Given the description of an element on the screen output the (x, y) to click on. 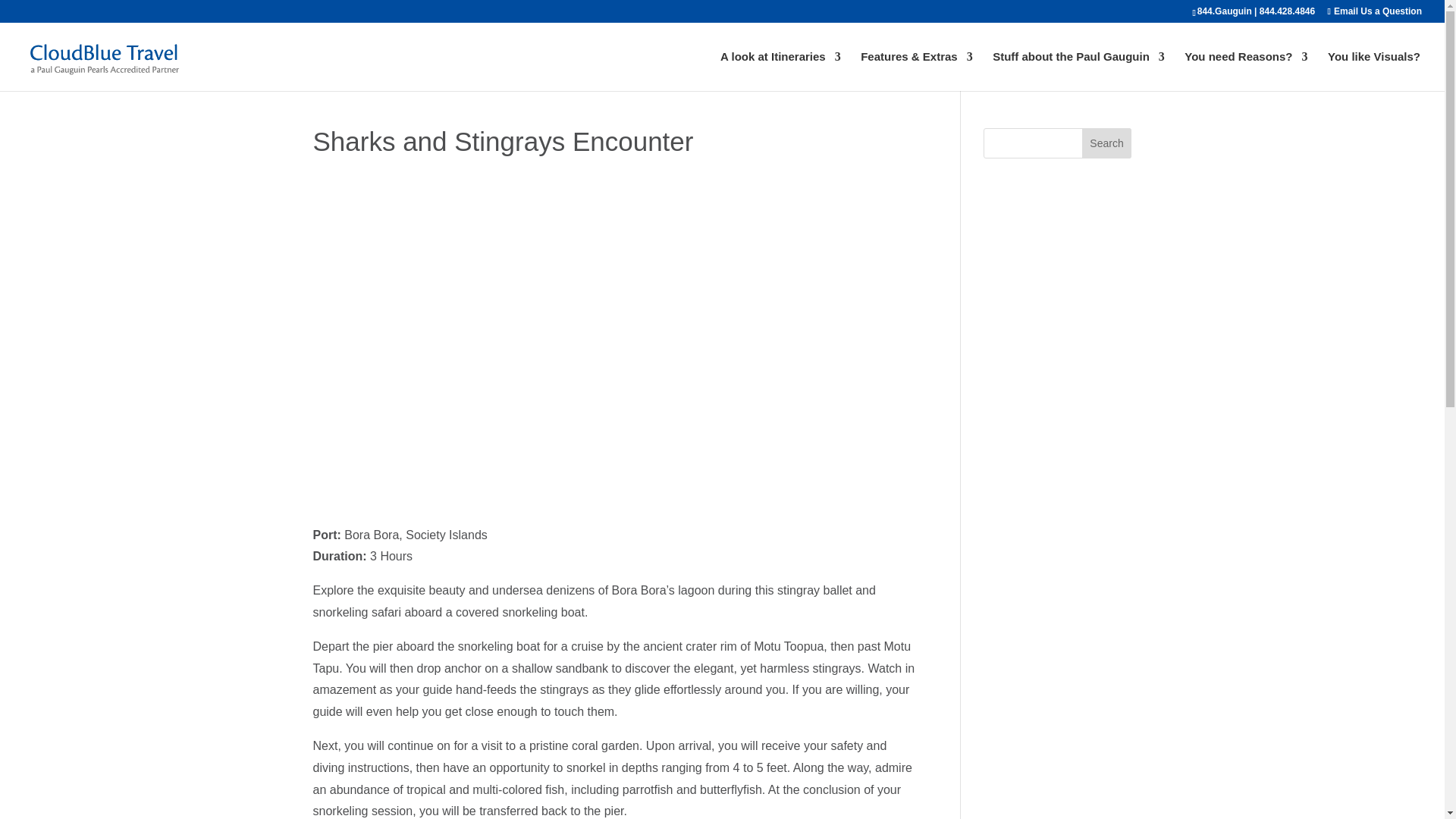
Email Us a Question (1374, 10)
A look at Itineraries (780, 70)
You like Visuals? (1374, 70)
Stuff about the Paul Gauguin (1078, 70)
Search (1106, 142)
You need Reasons? (1246, 70)
